Given the description of an element on the screen output the (x, y) to click on. 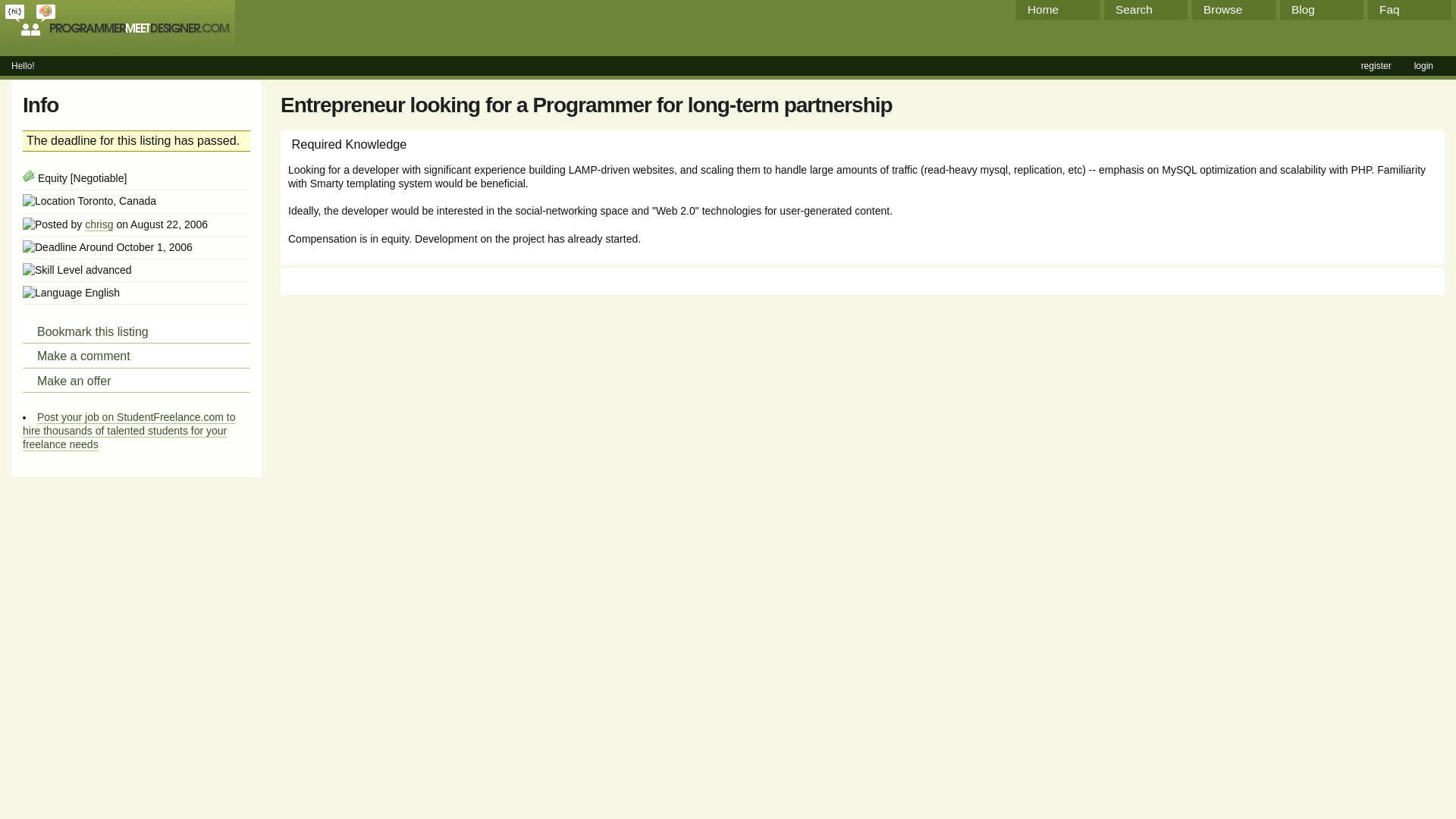
Blog (1320, 9)
Search (1145, 9)
Make a comment (136, 357)
Spoken Language (52, 292)
Make an offer (136, 382)
Faq (1409, 9)
login (1423, 65)
Location (49, 201)
register (1376, 65)
Skill Level (52, 269)
Bookmark this listing (136, 332)
Browse (1233, 9)
Posted by (52, 223)
chrisg (98, 224)
